Given the description of an element on the screen output the (x, y) to click on. 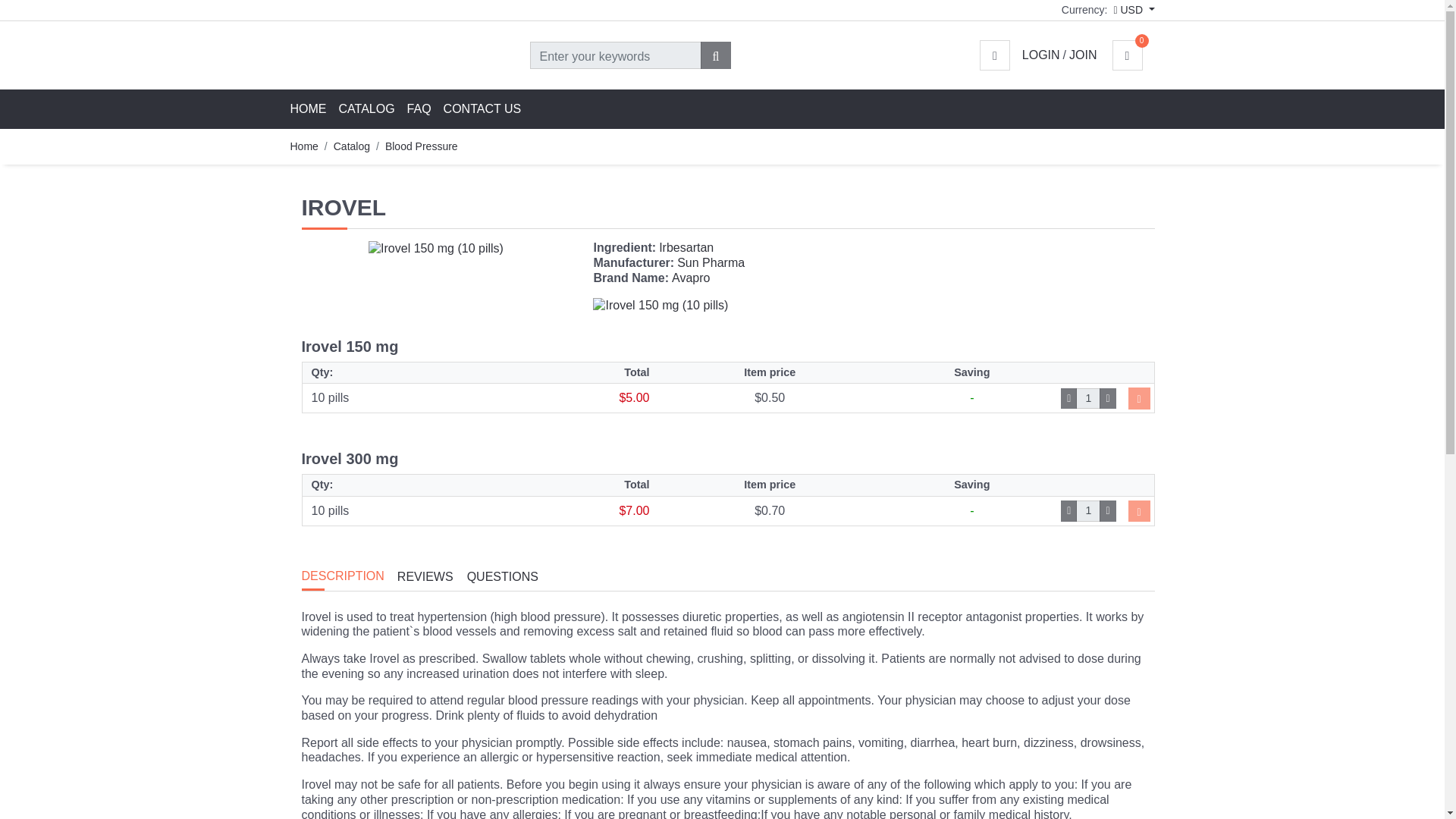
Sun Pharma (710, 262)
QUESTIONS (508, 576)
HOME (310, 108)
USD (1133, 9)
LOGIN (1040, 54)
Irovel 10 pills (660, 304)
DESCRIPTION (348, 575)
1 (1087, 510)
CONTACT US (482, 108)
CATALOG (365, 108)
